Given the description of an element on the screen output the (x, y) to click on. 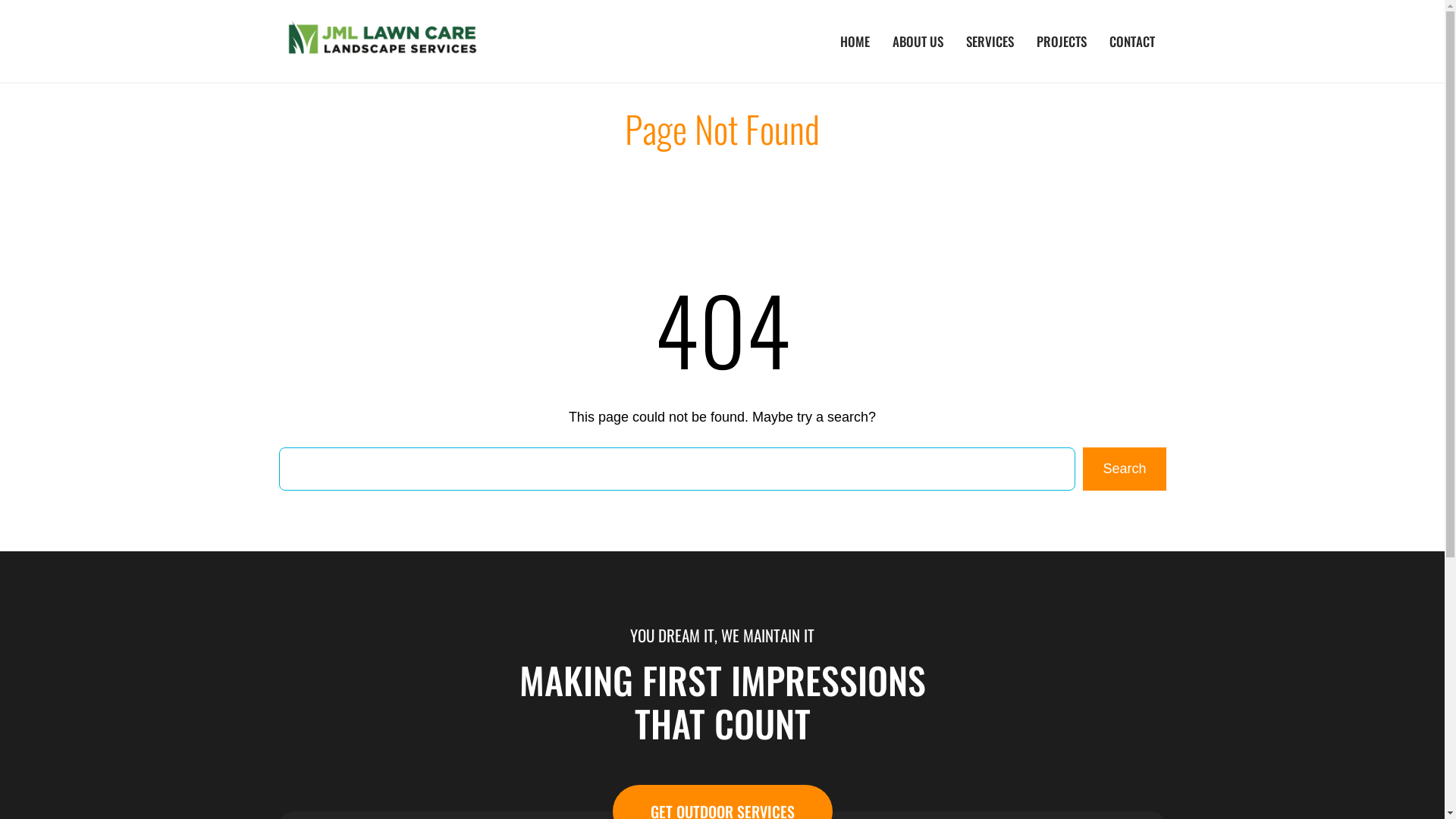
CONTACT Element type: text (1132, 41)
PROJECTS Element type: text (1061, 41)
HOME Element type: text (854, 41)
ABOUT US Element type: text (917, 41)
Search Element type: text (1123, 468)
SERVICES Element type: text (988, 41)
